Given the description of an element on the screen output the (x, y) to click on. 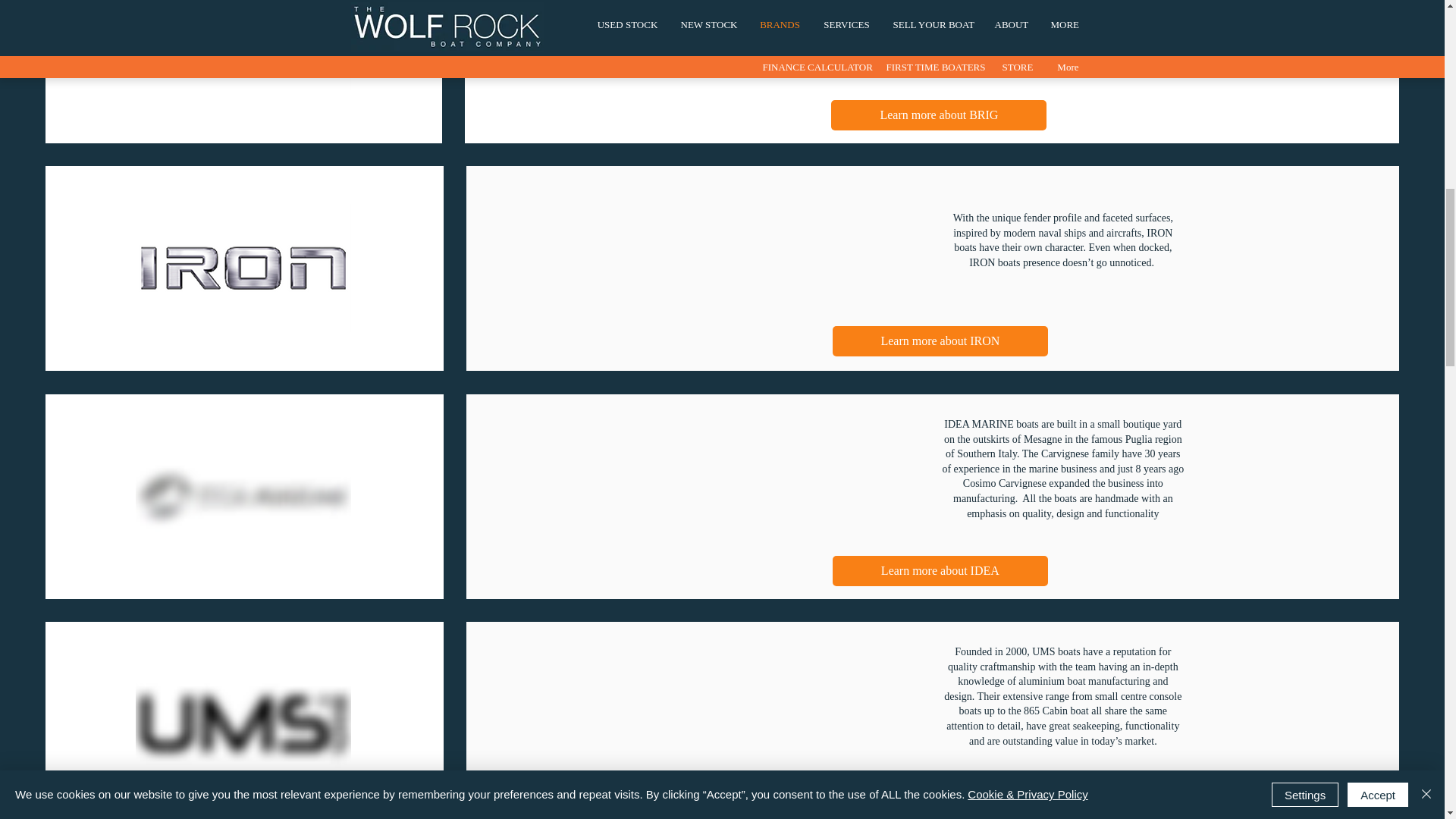
Learn more about UMS (940, 798)
Learn more about IRON (940, 340)
Learn more about BRIG (938, 114)
Learn more about IDEA (940, 571)
